Given the description of an element on the screen output the (x, y) to click on. 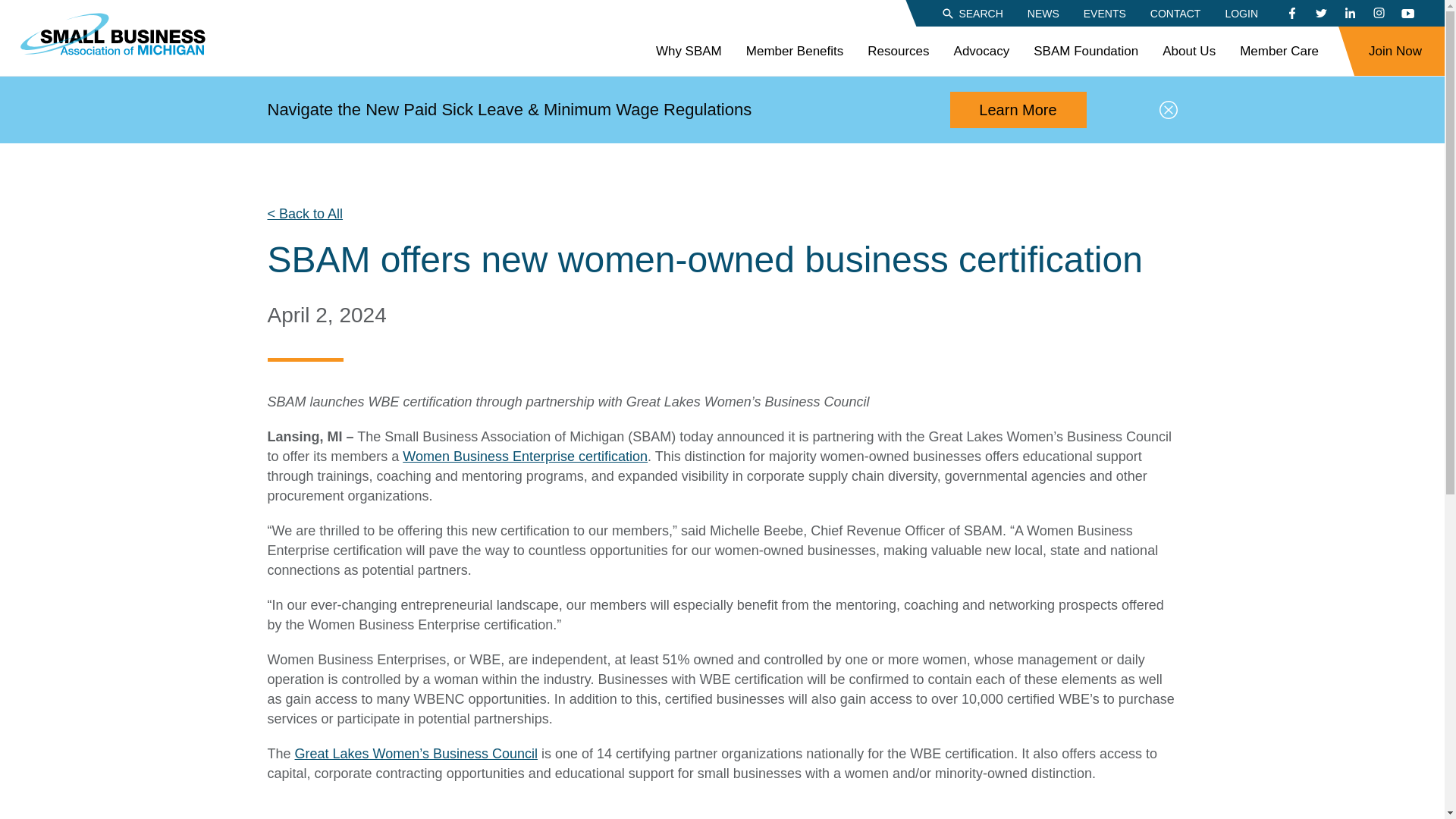
LOGIN (1241, 12)
YOUTUBE (1407, 13)
Why SBAM (688, 51)
LINKEDIN (1349, 13)
SEARCH (971, 12)
INSTAGRAM (1378, 13)
TWITTER (1320, 13)
CONTACT (1175, 12)
Member Benefits (794, 51)
Skip to main content (11, 7)
